Given the description of an element on the screen output the (x, y) to click on. 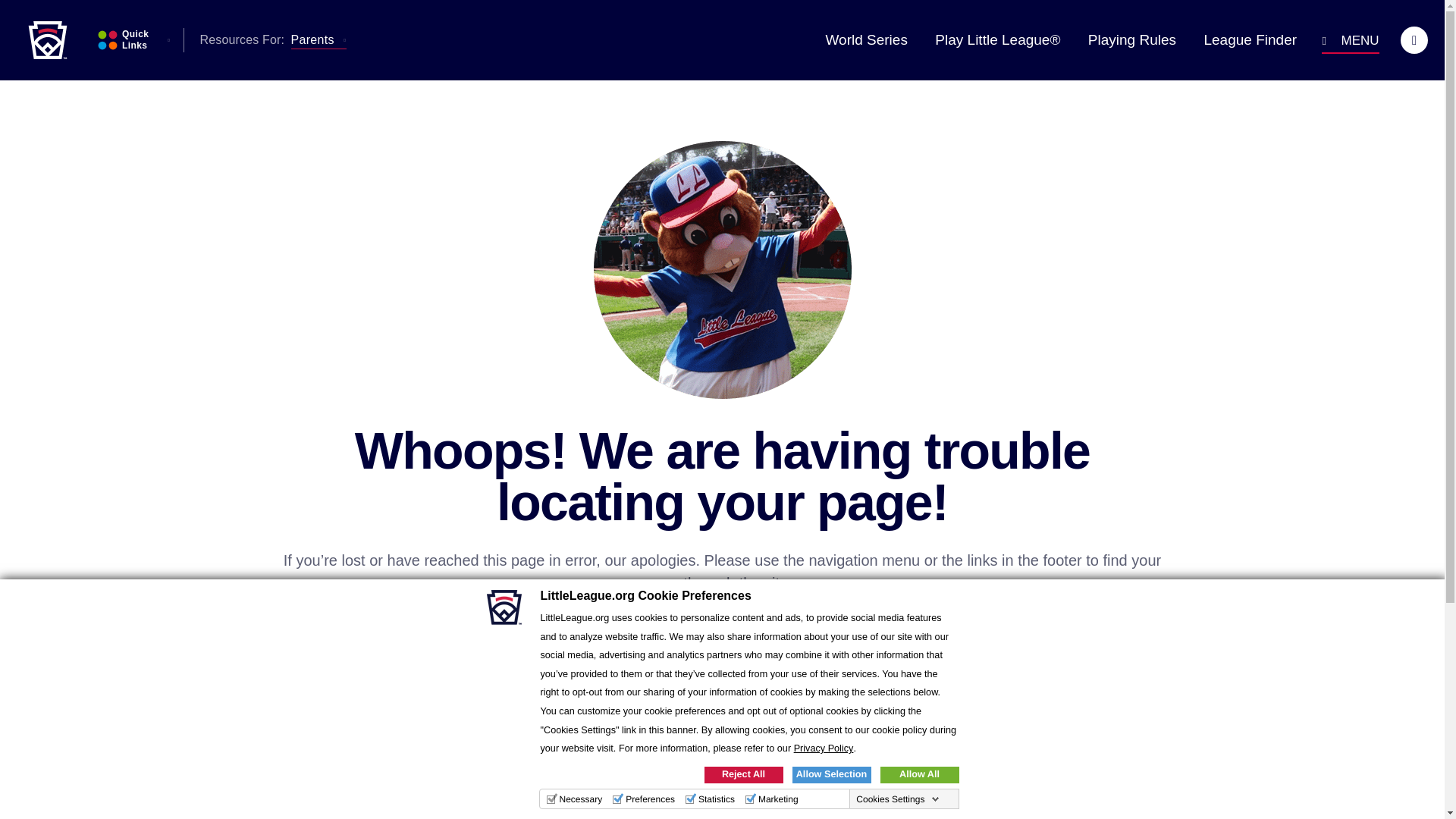
Cookies Settings (897, 799)
Allow Selection (831, 774)
Reject All (743, 774)
Allow All (918, 774)
Privacy Policy (823, 747)
